Given the description of an element on the screen output the (x, y) to click on. 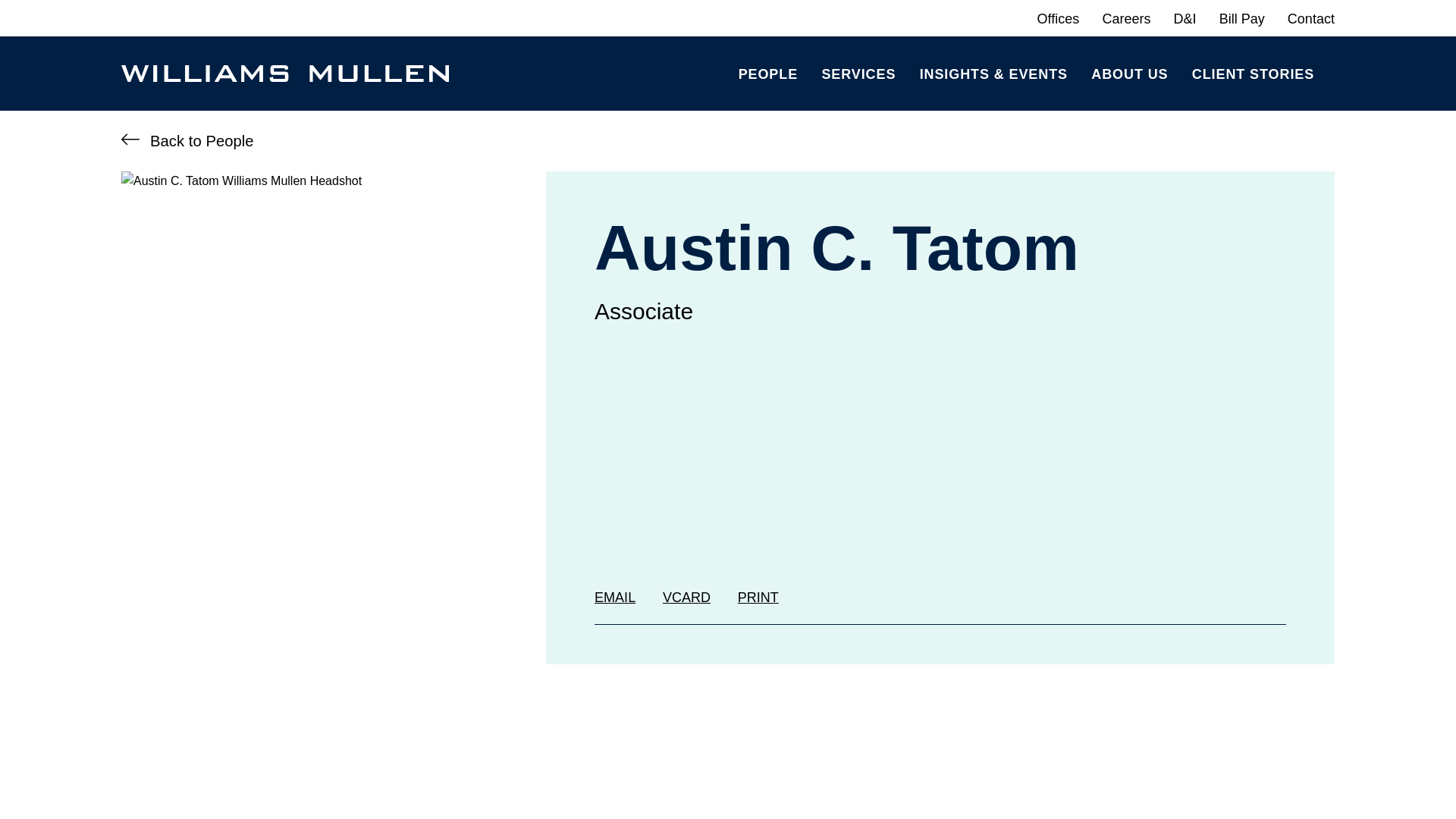
Careers (1126, 18)
CLIENT STORIES (1253, 73)
Offices (1058, 18)
Bill Pay (1242, 18)
SERVICES (858, 73)
VCARD (686, 597)
EMAIL (614, 597)
PEOPLE (767, 73)
PRINT (758, 597)
Back to People (186, 140)
